Given the description of an element on the screen output the (x, y) to click on. 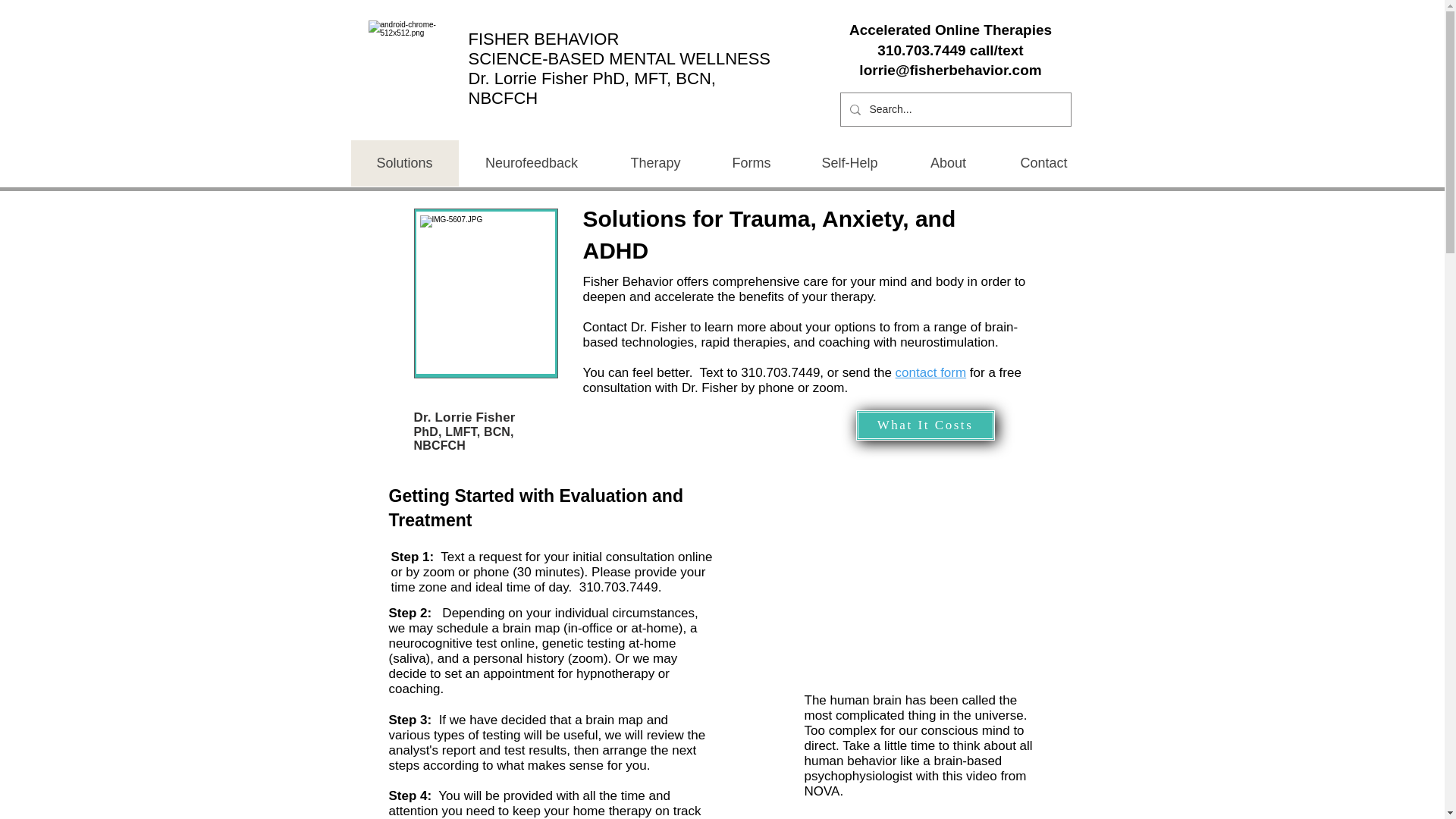
Contact (1043, 163)
About (947, 163)
contact form (930, 372)
What It Costs (925, 425)
Neurofeedback (531, 163)
Forms (751, 163)
Solutions (404, 163)
Therapy (655, 163)
Self-Help (849, 163)
